Given the description of an element on the screen output the (x, y) to click on. 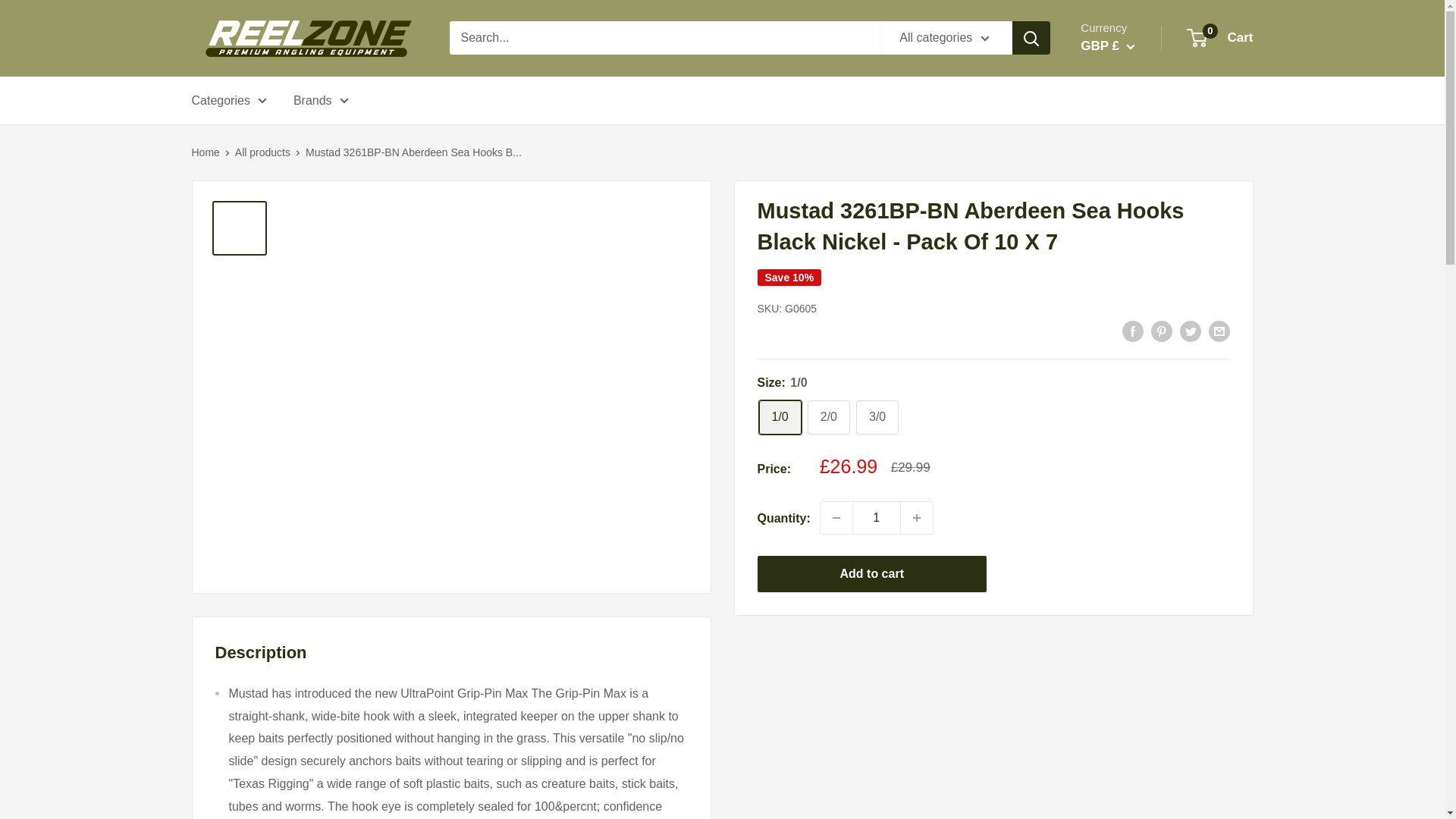
Increase quantity by 1 (917, 517)
1 (876, 517)
Decrease quantity by 1 (836, 517)
